Given the description of an element on the screen output the (x, y) to click on. 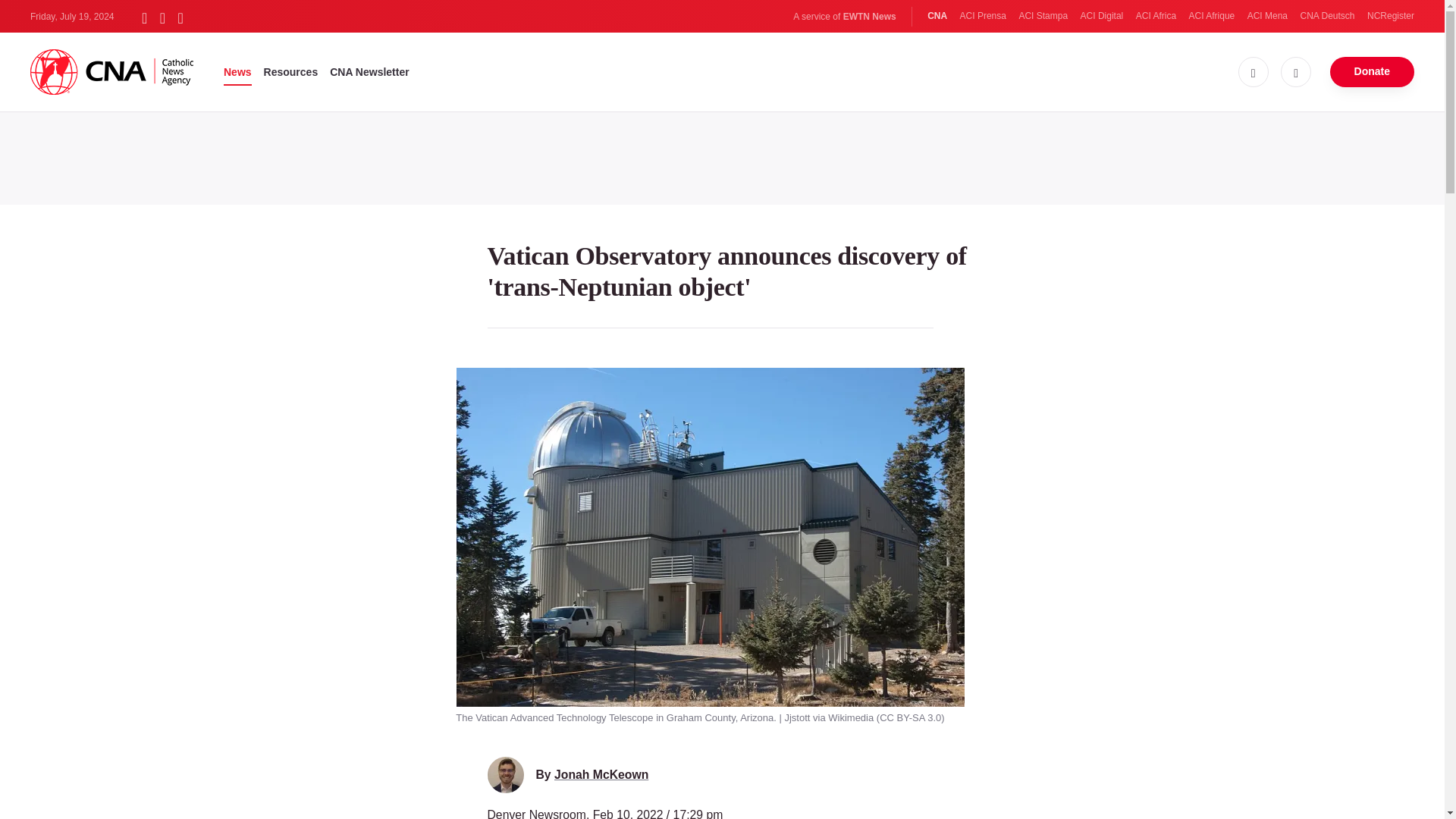
News (237, 71)
EWTN News (869, 16)
ACI Stampa (1042, 16)
EWTN News (869, 16)
ACI Africa (1155, 16)
3rd party ad content (721, 155)
CNA Deutsch (1327, 16)
ACI Mena (1267, 16)
ACI Digital (1102, 16)
Resources (290, 71)
ACI Afrique (1211, 16)
NCRegister (1390, 16)
ACI Prensa (982, 16)
CNA (937, 16)
